Given the description of an element on the screen output the (x, y) to click on. 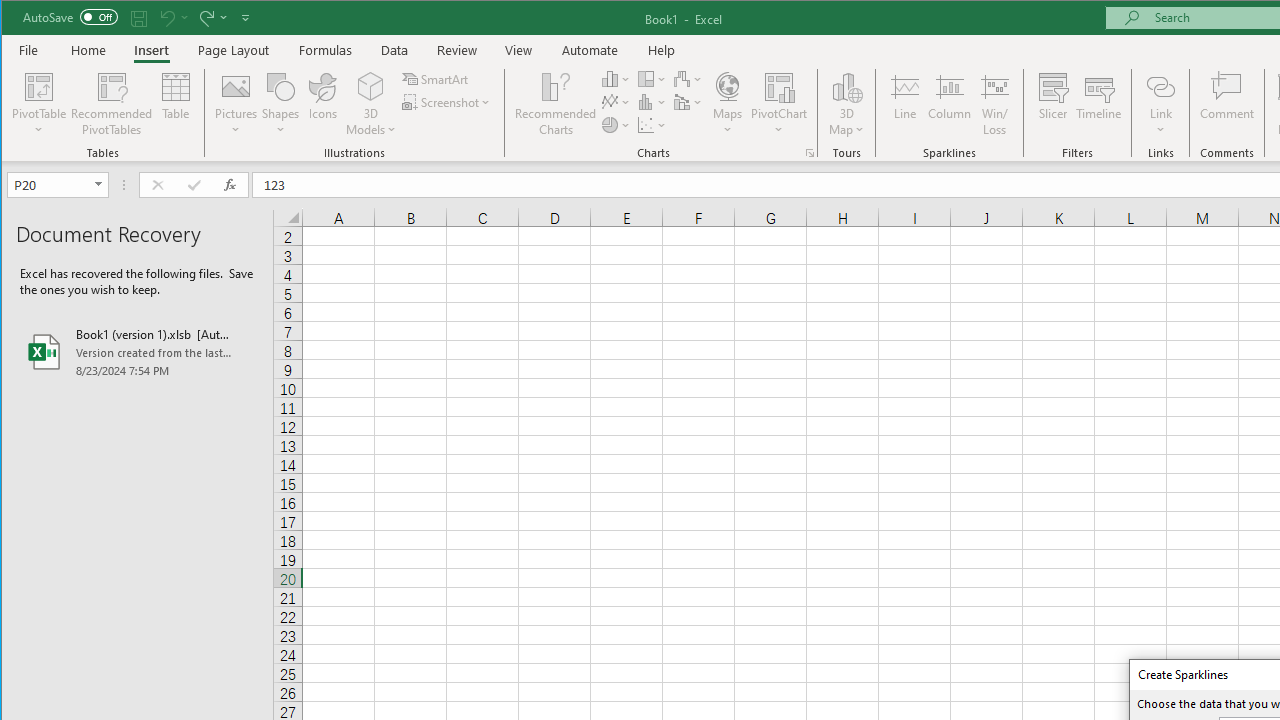
Column (949, 104)
Help (661, 50)
AutoSave (70, 16)
Insert Column or Bar Chart (616, 78)
PivotChart (779, 86)
Link (1160, 104)
Line (904, 104)
PivotTable (39, 86)
Insert Combo Chart (688, 101)
Slicer... (1052, 104)
Shapes (280, 104)
SmartArt... (436, 78)
Recommended Charts (809, 152)
